Given the description of an element on the screen output the (x, y) to click on. 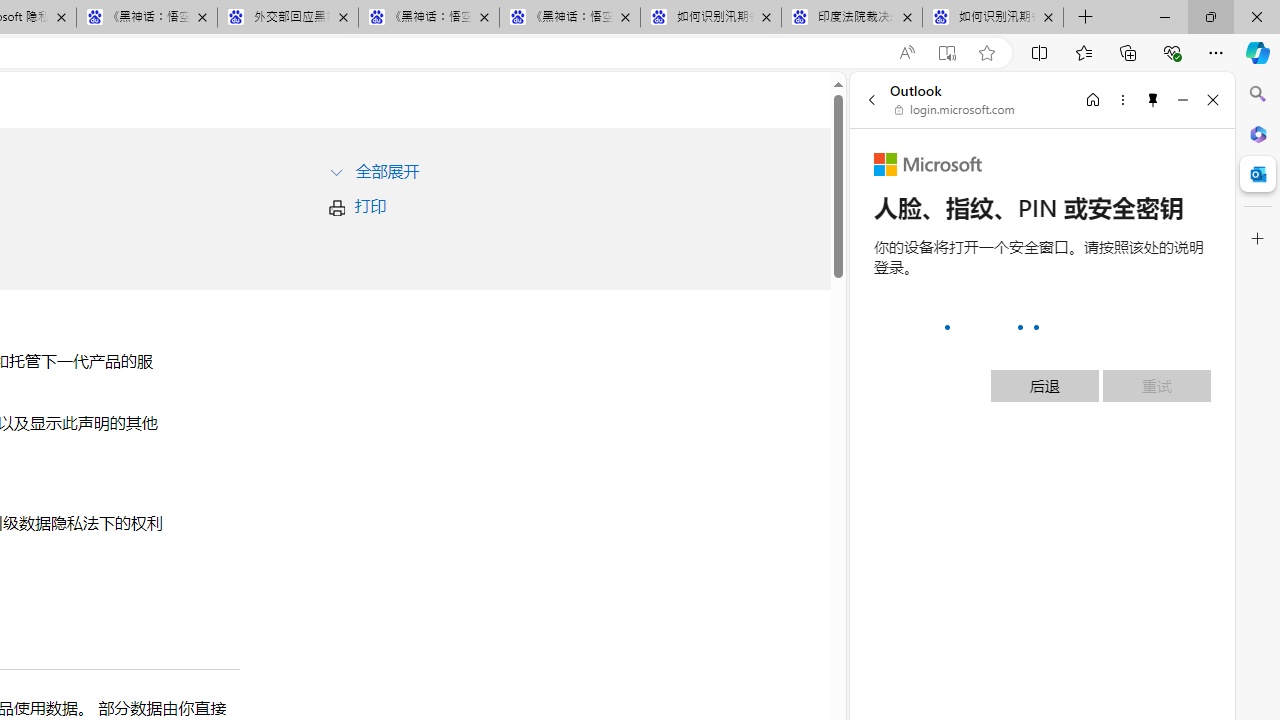
login.microsoft.com (955, 110)
